Given the description of an element on the screen output the (x, y) to click on. 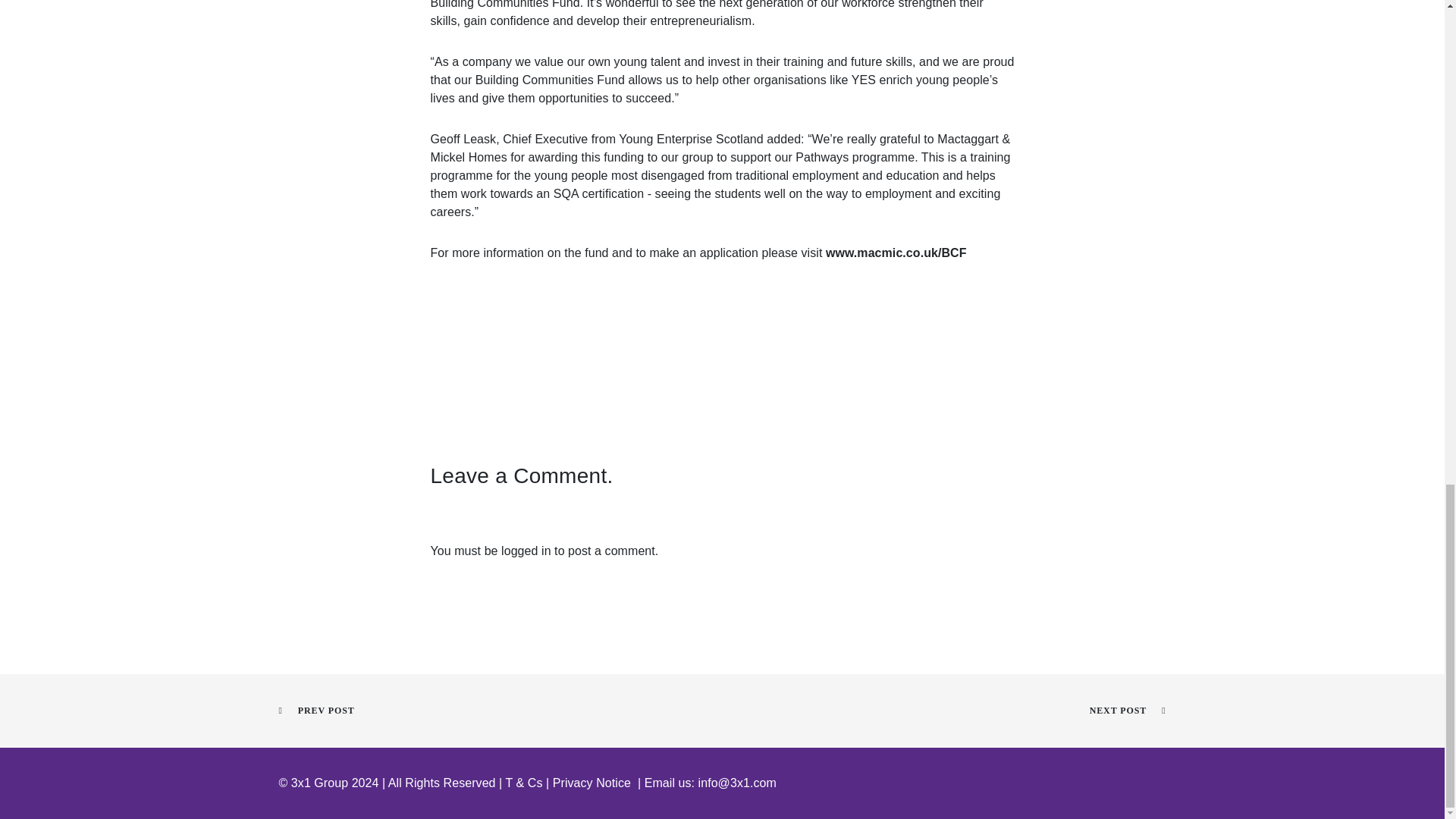
PREV POST (317, 710)
Privacy Notice (591, 782)
logged in (525, 550)
NEXT POST (1127, 710)
